Given the description of an element on the screen output the (x, y) to click on. 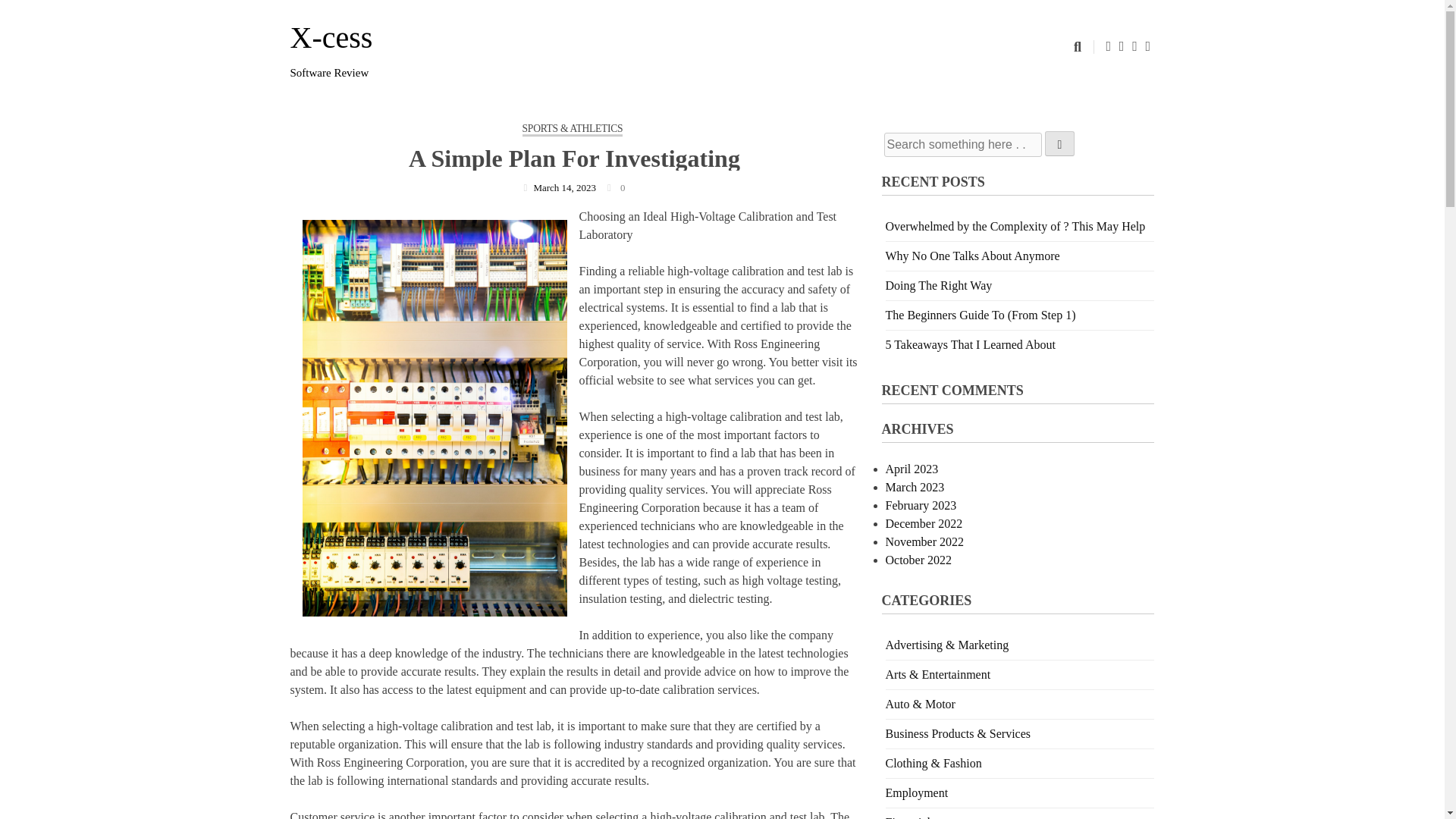
December 2022 (923, 522)
Overwhelmed by the Complexity of ? This May Help (1015, 226)
October 2022 (918, 559)
Employment (917, 792)
November 2022 (924, 541)
Doing The Right Way (938, 285)
Why No One Talks About Anymore (972, 255)
X-cess (330, 37)
April 2023 (912, 468)
Financial (908, 817)
February 2023 (920, 504)
5 Takeaways That I Learned About (970, 344)
March 2023 (914, 486)
